Given the description of an element on the screen output the (x, y) to click on. 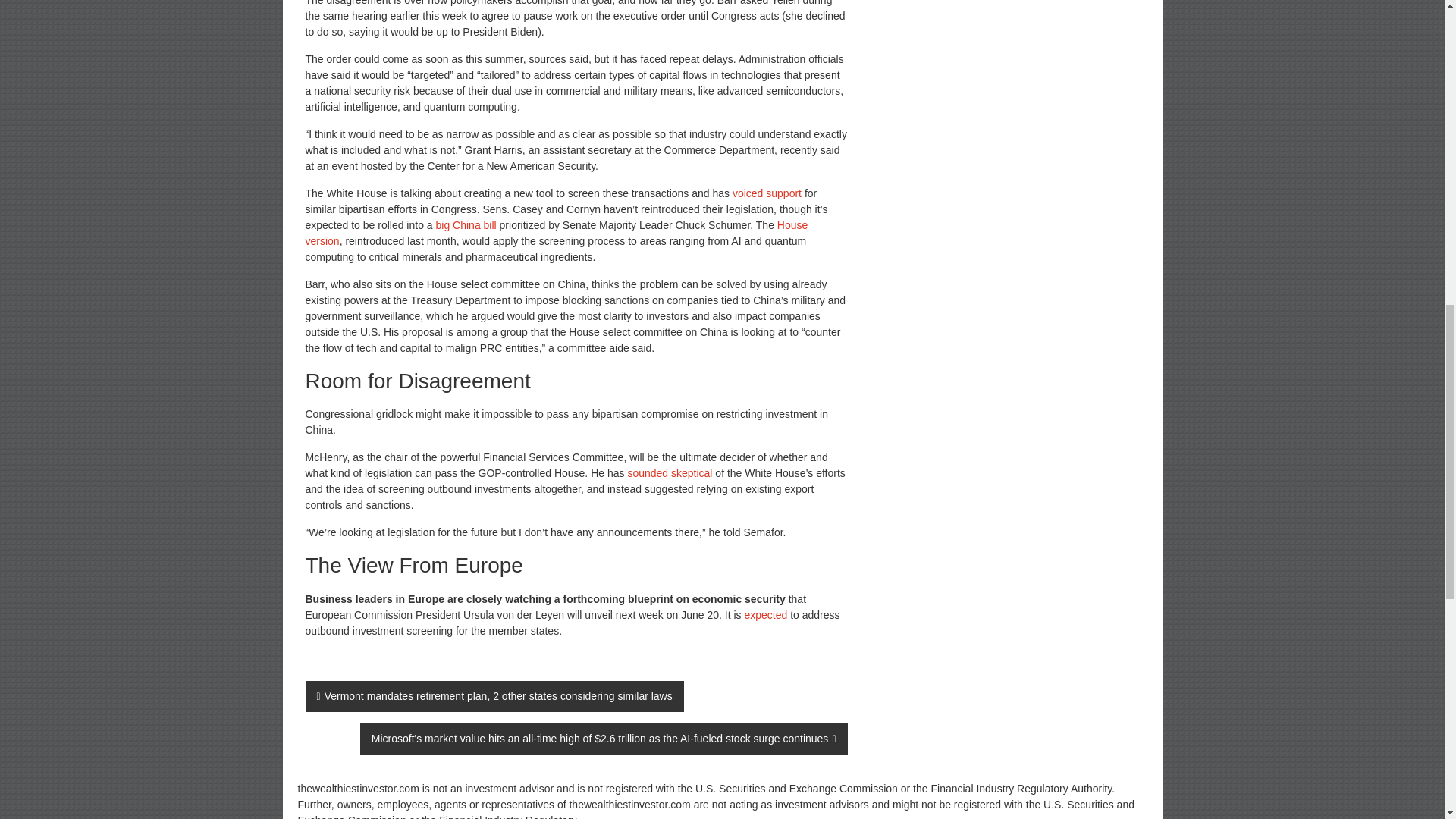
expected (765, 614)
House version (556, 233)
voiced support (767, 193)
big China bill (465, 224)
sounded skeptical (669, 472)
